Given the description of an element on the screen output the (x, y) to click on. 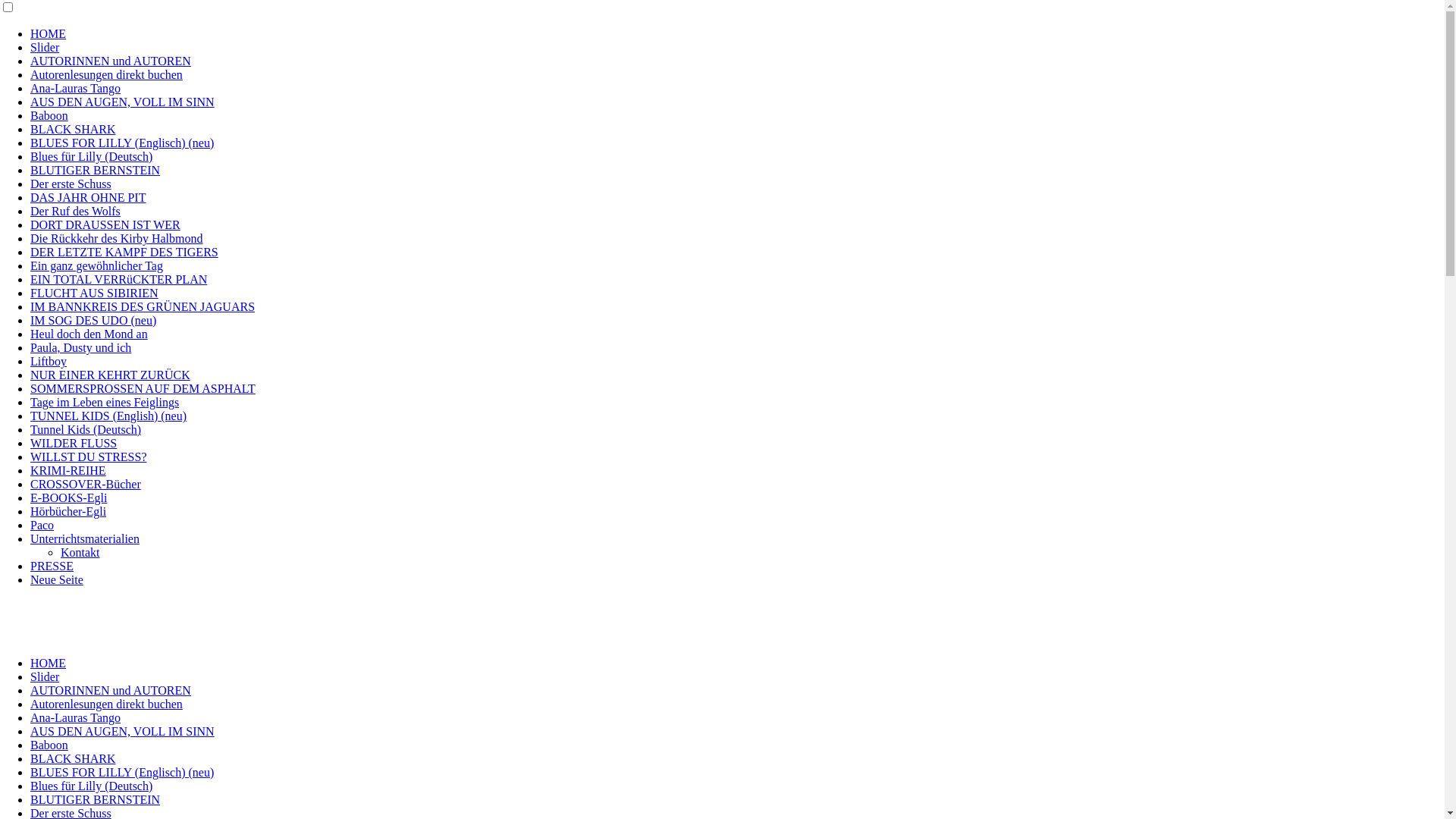
Ana-Lauras Tango Element type: text (75, 717)
Der Ruf des Wolfs Element type: text (75, 210)
HOME Element type: text (47, 662)
Liftboy Element type: text (48, 360)
BLUTIGER BERNSTEIN Element type: text (95, 169)
AUTORINNEN und AUTOREN Element type: text (110, 690)
WILLST DU STRESS? Element type: text (88, 456)
Slider Element type: text (44, 676)
Slider Element type: text (44, 46)
BLUES FOR LILLY (Englisch) (neu) Element type: text (121, 771)
IM SOG DES UDO (neu) Element type: text (93, 319)
AUTORINNEN und AUTOREN Element type: text (110, 60)
Ana-Lauras Tango Element type: text (75, 87)
BLUTIGER BERNSTEIN Element type: text (95, 799)
DER LETZTE KAMPF DES TIGERS Element type: text (124, 251)
Tunnel Kids (Deutsch) Element type: text (85, 429)
Neue Seite Element type: text (56, 579)
SOMMERSPROSSEN AUF DEM ASPHALT Element type: text (142, 388)
KRIMI-REIHE Element type: text (68, 470)
Baboon Element type: text (49, 115)
WILDER FLUSS Element type: text (73, 442)
BLACK SHARK Element type: text (72, 758)
Baboon Element type: text (49, 744)
DAS JAHR OHNE PIT Element type: text (87, 197)
TUNNEL KIDS (English) (neu) Element type: text (108, 415)
Unterrichtsmaterialien Element type: text (84, 538)
HOME Element type: text (47, 33)
E-BOOKS-Egli Element type: text (68, 497)
BLUES FOR LILLY (Englisch) (neu) Element type: text (121, 142)
DORT DRAUSSEN IST WER Element type: text (105, 224)
Paula, Dusty und ich Element type: text (80, 347)
Paco Element type: text (41, 524)
Tage im Leben eines Feiglings Element type: text (104, 401)
AUS DEN AUGEN, VOLL IM SINN Element type: text (122, 730)
PRESSE Element type: text (51, 565)
Autorenlesungen direkt buchen Element type: text (106, 703)
BLACK SHARK Element type: text (72, 128)
Kontakt Element type: text (80, 552)
Heul doch den Mond an Element type: text (88, 333)
FLUCHT AUS SIBIRIEN Element type: text (94, 292)
Autorenlesungen direkt buchen Element type: text (106, 74)
AUS DEN AUGEN, VOLL IM SINN Element type: text (122, 101)
Der erste Schuss Element type: text (70, 183)
